Given the description of an element on the screen output the (x, y) to click on. 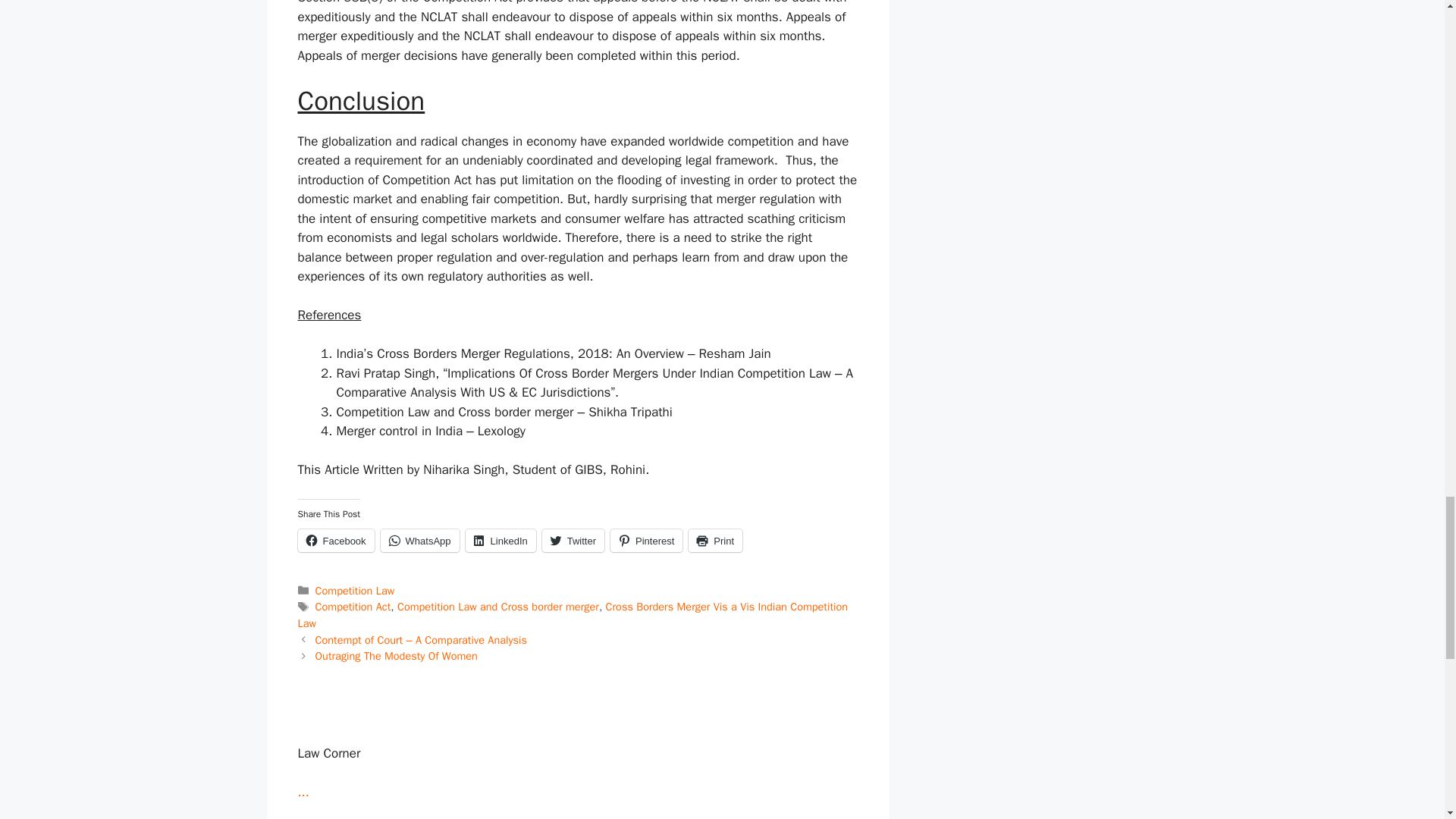
Click to share on Twitter (572, 540)
Click to share on Pinterest (646, 540)
Click to print (715, 540)
Click to share on Facebook (335, 540)
Click to share on LinkedIn (500, 540)
Click to share on WhatsApp (420, 540)
